Given the description of an element on the screen output the (x, y) to click on. 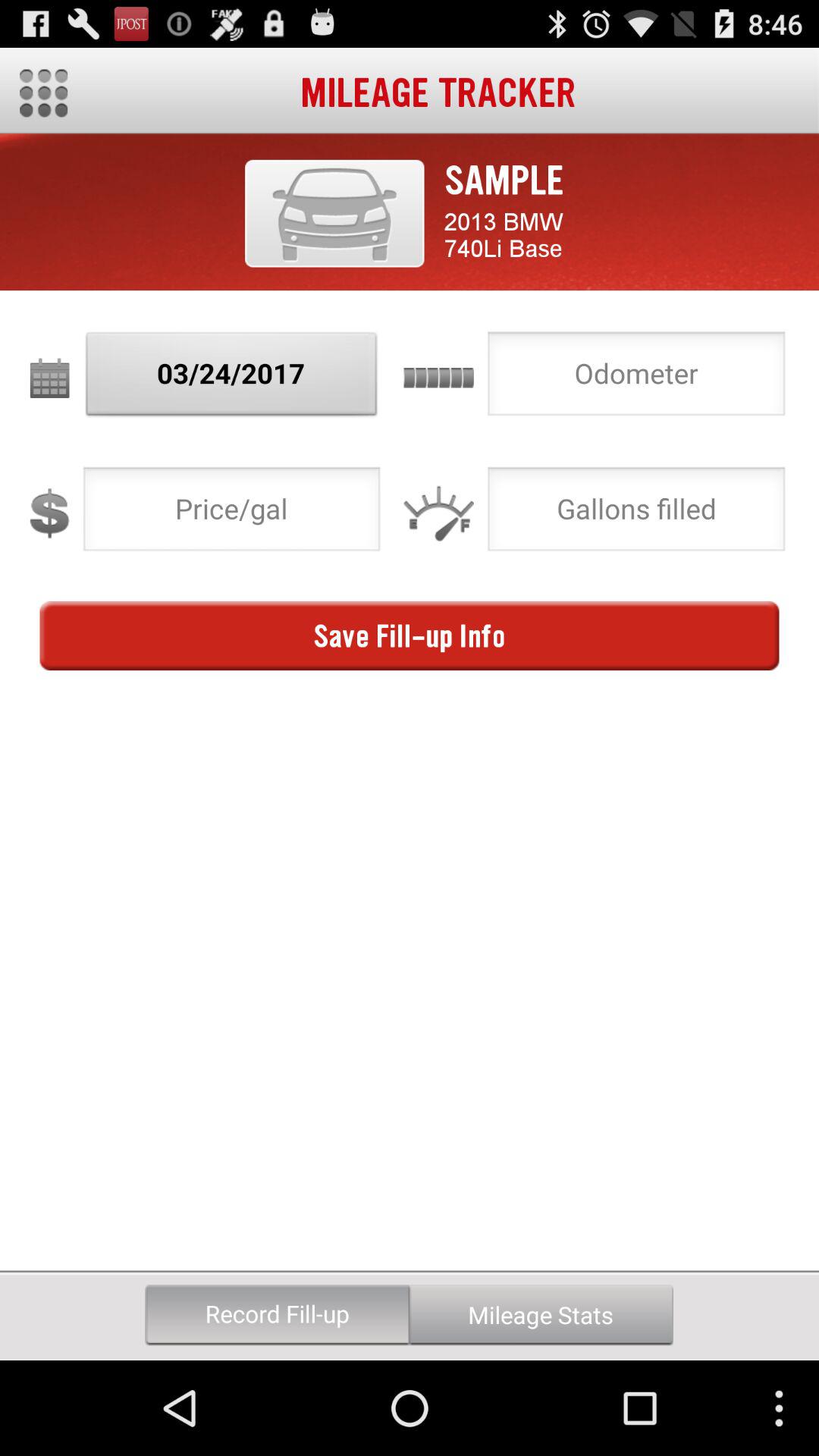
toggle main menu (43, 93)
